Given the description of an element on the screen output the (x, y) to click on. 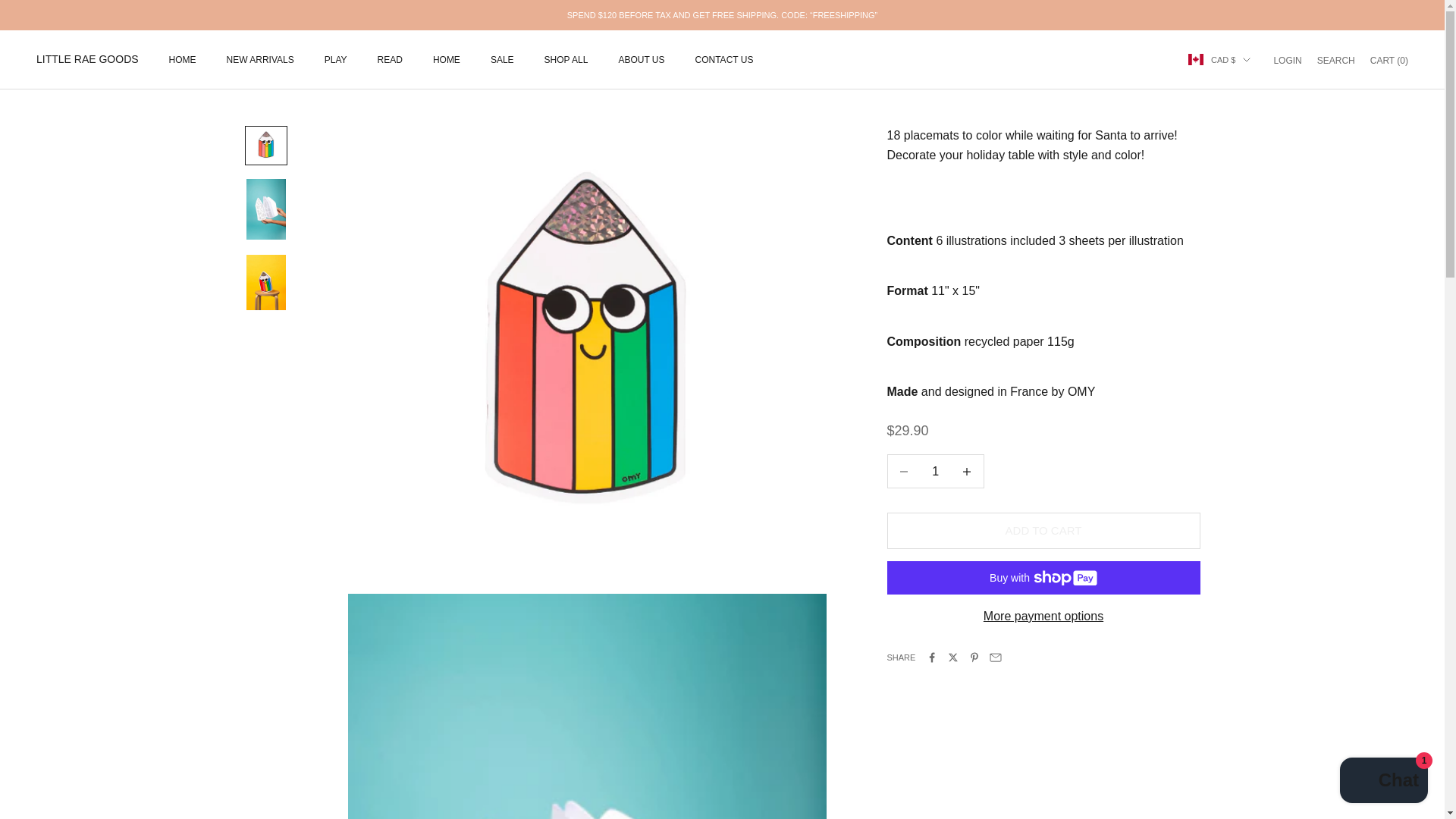
SHOP ALL (566, 59)
CONTACT US (724, 59)
SALE (1286, 59)
HOME (501, 59)
READ (182, 59)
ABOUT US (390, 59)
NEW ARRIVALS (640, 59)
Shopify online store chat (260, 59)
1 (1336, 59)
LITTLE RAE GOODS (1383, 781)
